Given the description of an element on the screen output the (x, y) to click on. 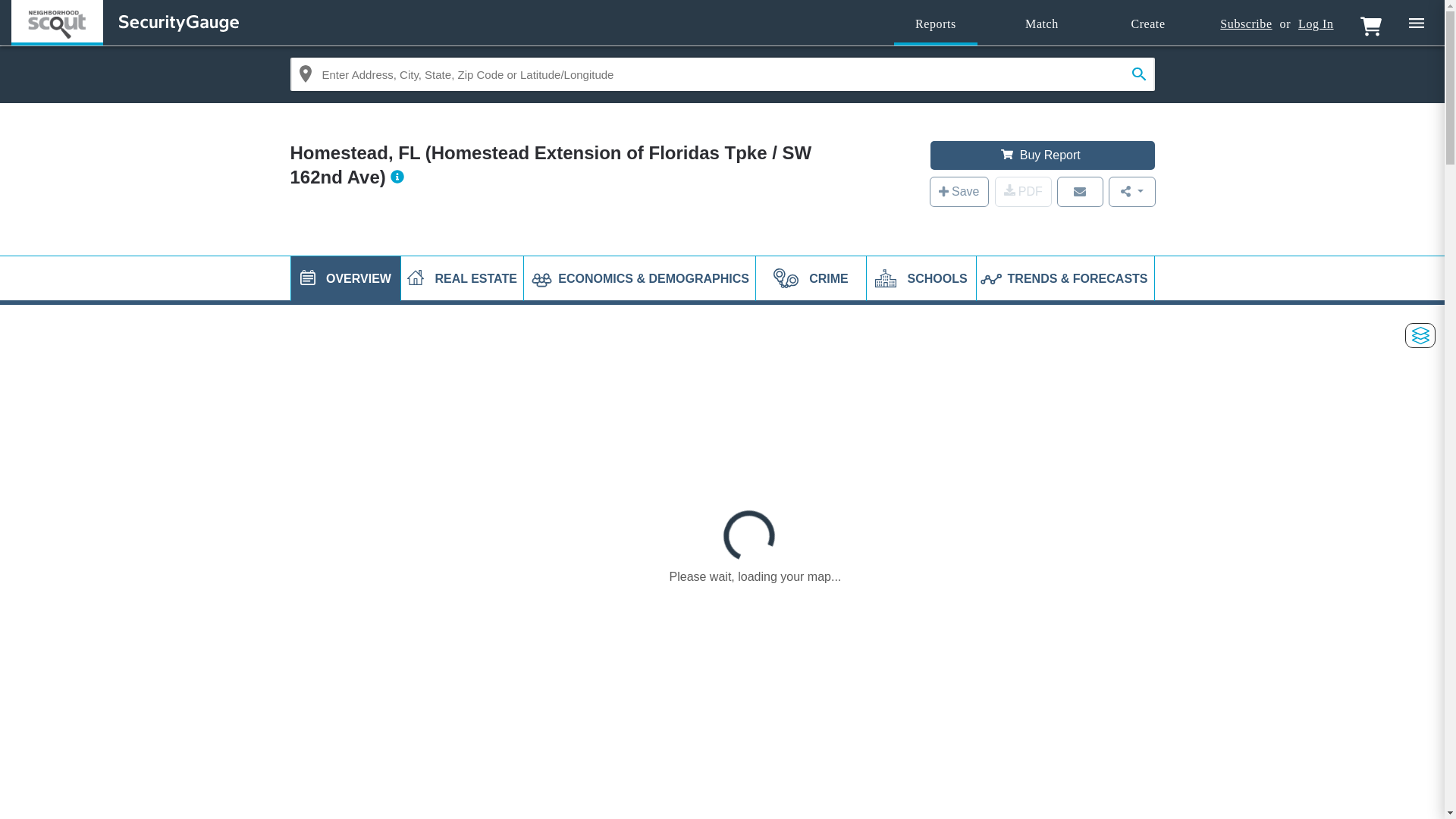
Log In (1315, 24)
Create (1147, 24)
j (307, 277)
Subscribe (1245, 24)
Reports (934, 24)
Match (1041, 24)
